Given the description of an element on the screen output the (x, y) to click on. 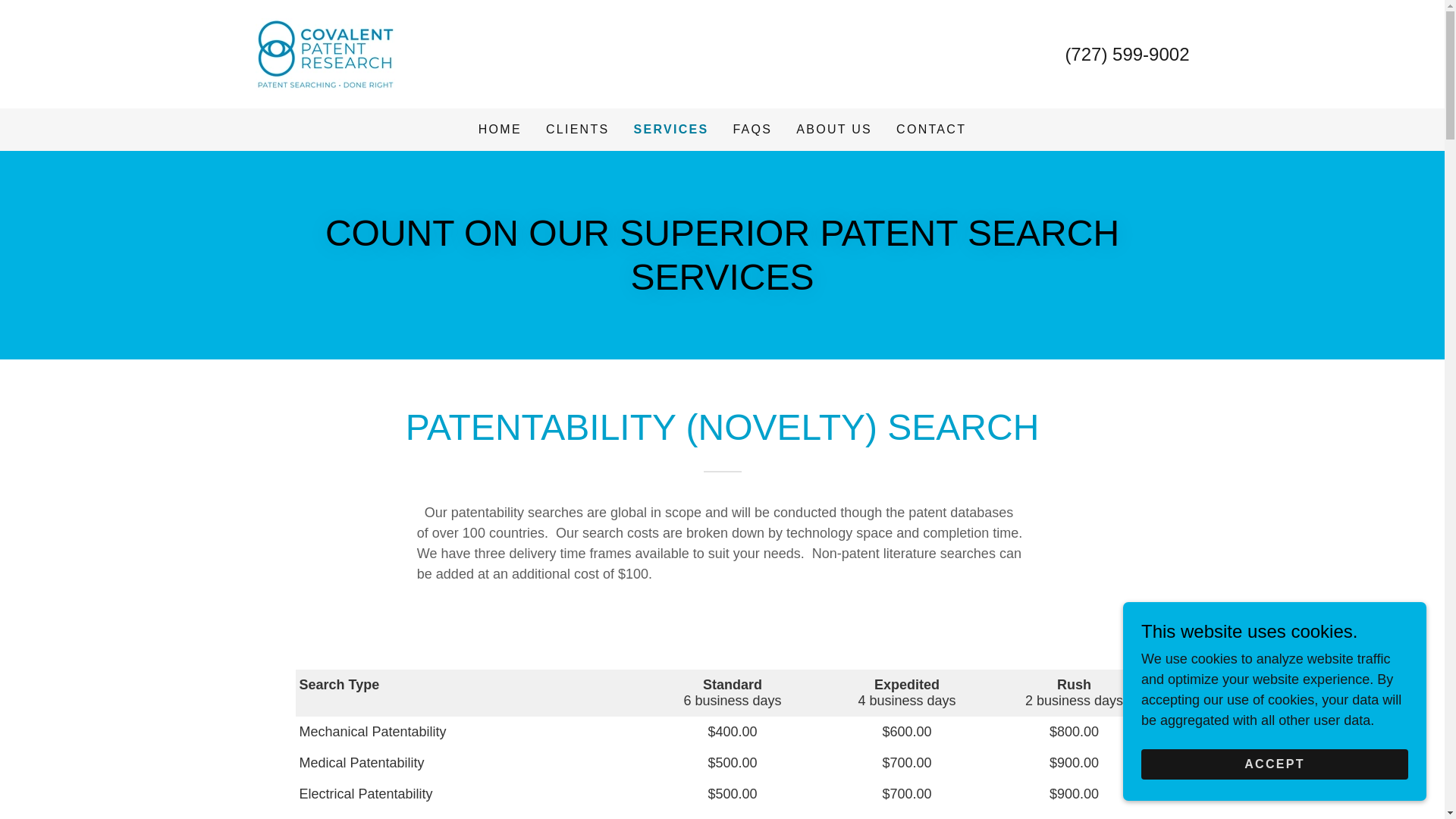
ABOUT US (834, 129)
HOME (499, 129)
Covalent Patent Research (324, 52)
FAQS (752, 129)
SERVICES (670, 129)
CLIENTS (577, 129)
ACCEPT (1274, 764)
CONTACT (931, 129)
